Given the description of an element on the screen output the (x, y) to click on. 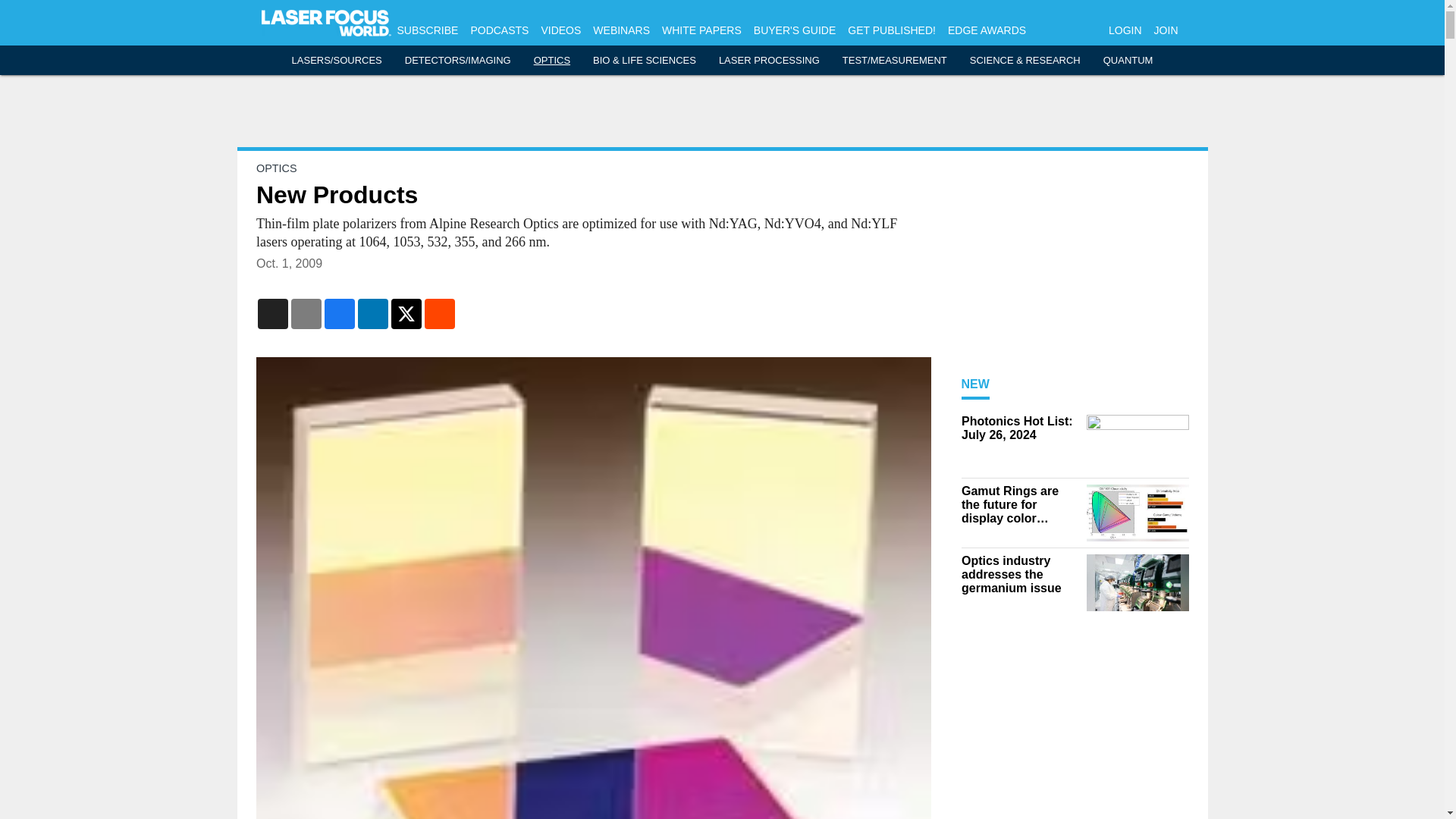
LOGIN (1124, 30)
GET PUBLISHED! (891, 30)
WEBINARS (620, 30)
OPTICS (552, 60)
SUBSCRIBE (427, 30)
JOIN (1165, 30)
LASER PROCESSING (769, 60)
VIDEOS (560, 30)
WHITE PAPERS (701, 30)
BUYER'S GUIDE (794, 30)
QUANTUM (1128, 60)
PODCASTS (499, 30)
EDGE AWARDS (986, 30)
